Given the description of an element on the screen output the (x, y) to click on. 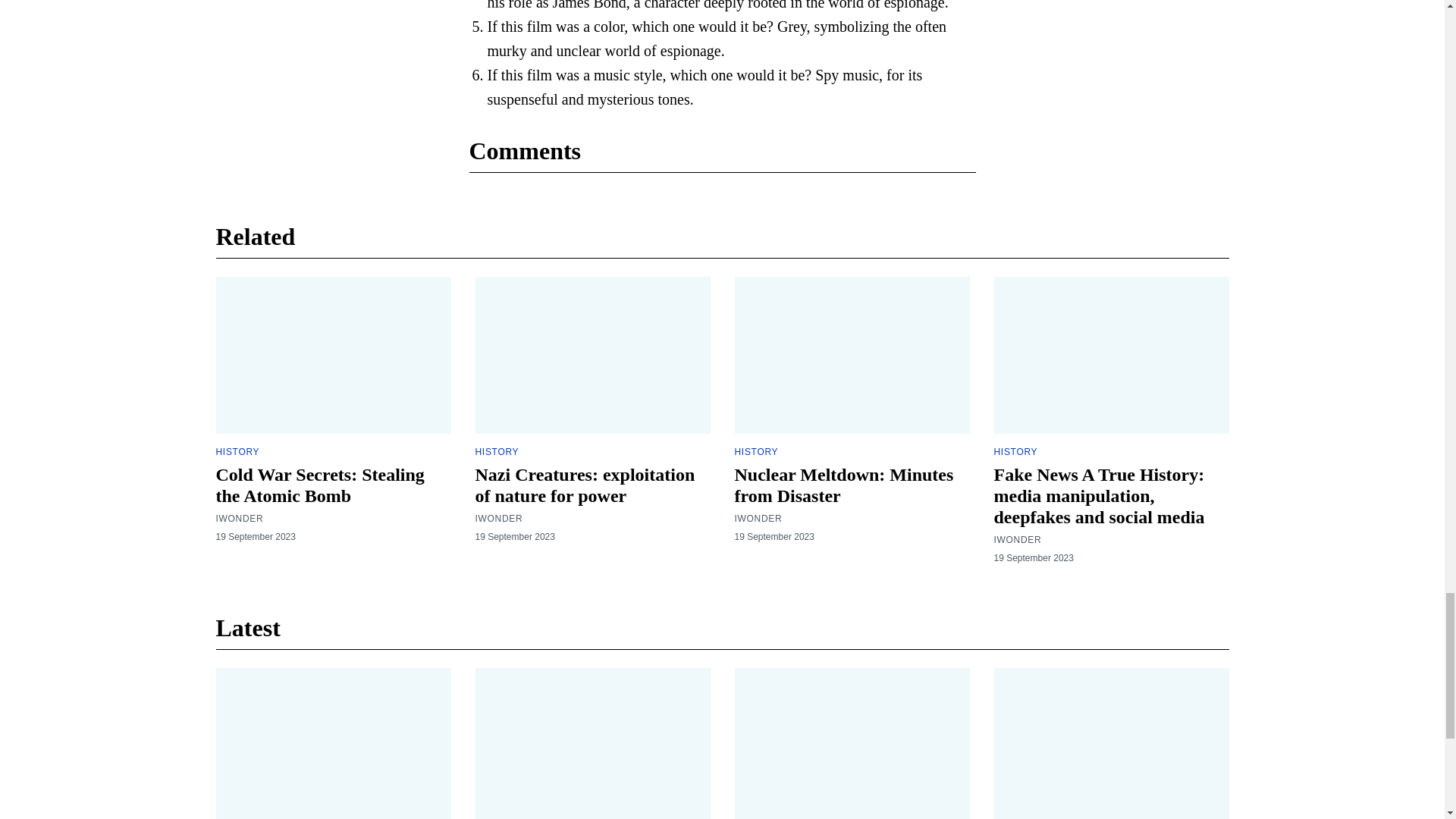
HISTORY (496, 451)
HISTORY (237, 451)
IWONDER (239, 518)
Cold War Secrets: Stealing the Atomic Bomb (319, 485)
IWONDER (498, 518)
Nazi Creatures: exploitation of nature for power (584, 485)
